Given the description of an element on the screen output the (x, y) to click on. 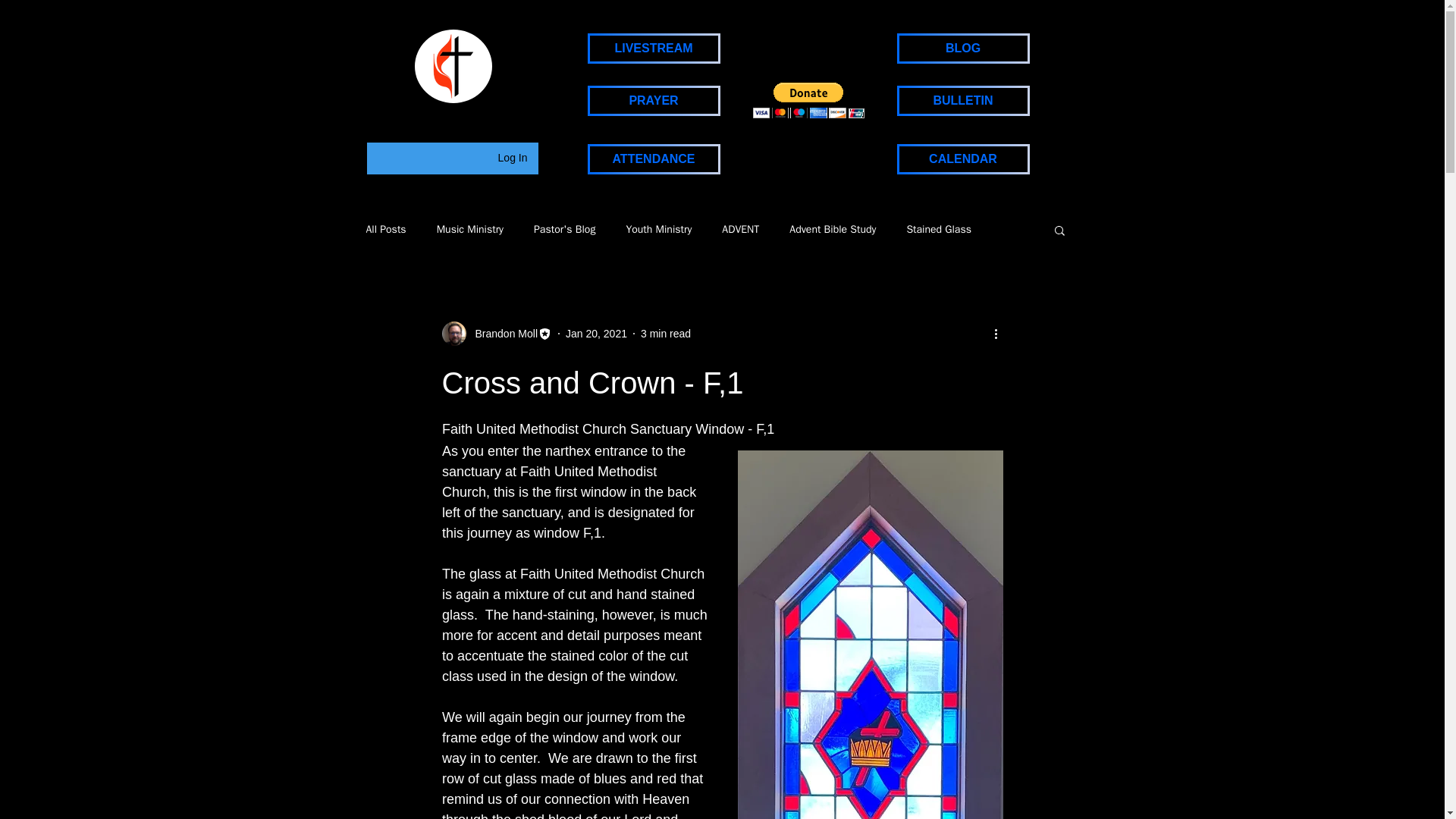
All Posts (385, 229)
PRAYER (652, 100)
CALENDAR (962, 159)
Stained Glass (938, 229)
Jan 20, 2021 (596, 333)
Log In (512, 158)
BLOG (962, 48)
ATTENDANCE (652, 159)
Pastor's Blog (564, 229)
Brandon Moll (501, 333)
